Given the description of an element on the screen output the (x, y) to click on. 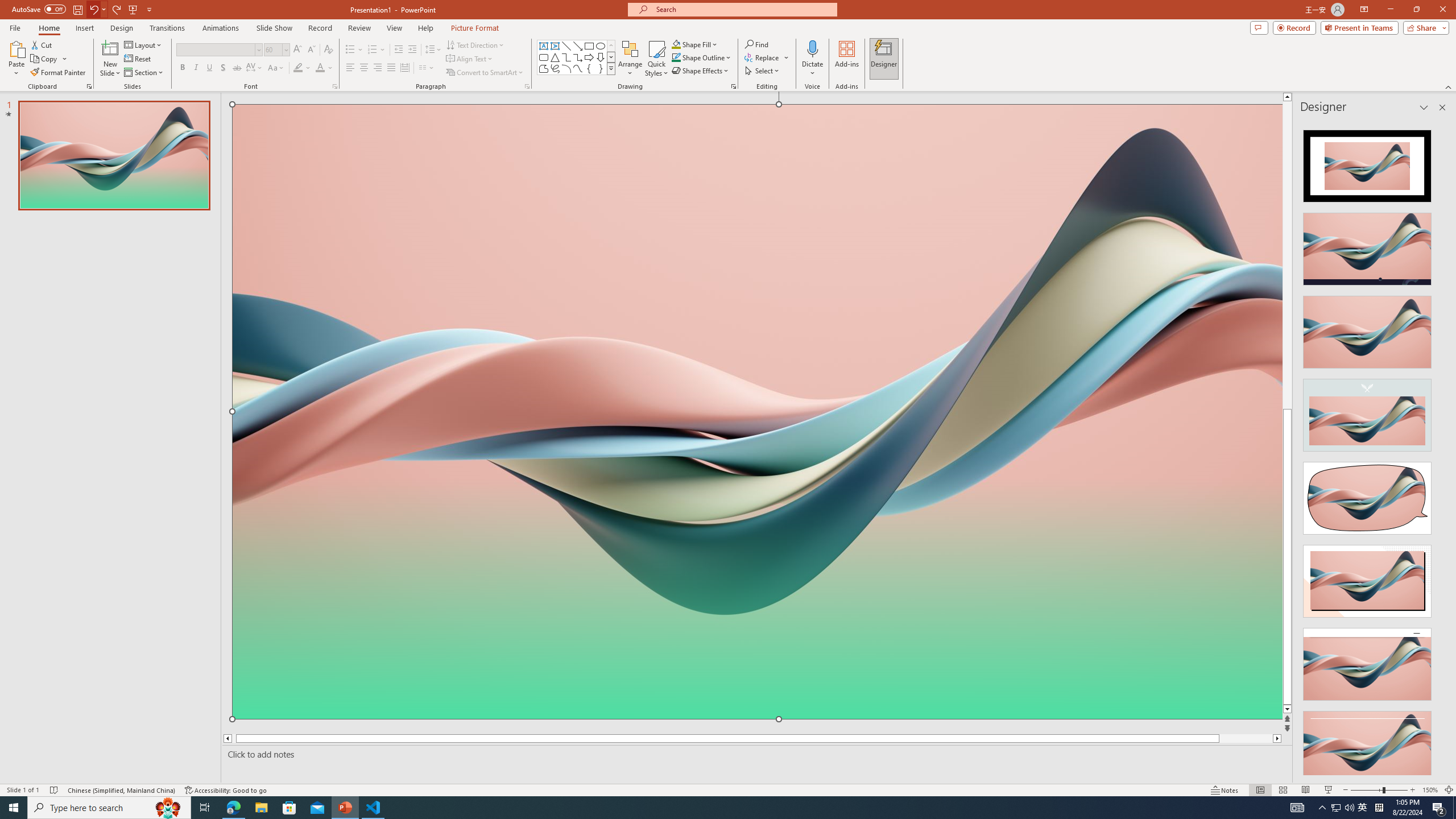
Class: NetUIScrollBar (1441, 447)
